Given the description of an element on the screen output the (x, y) to click on. 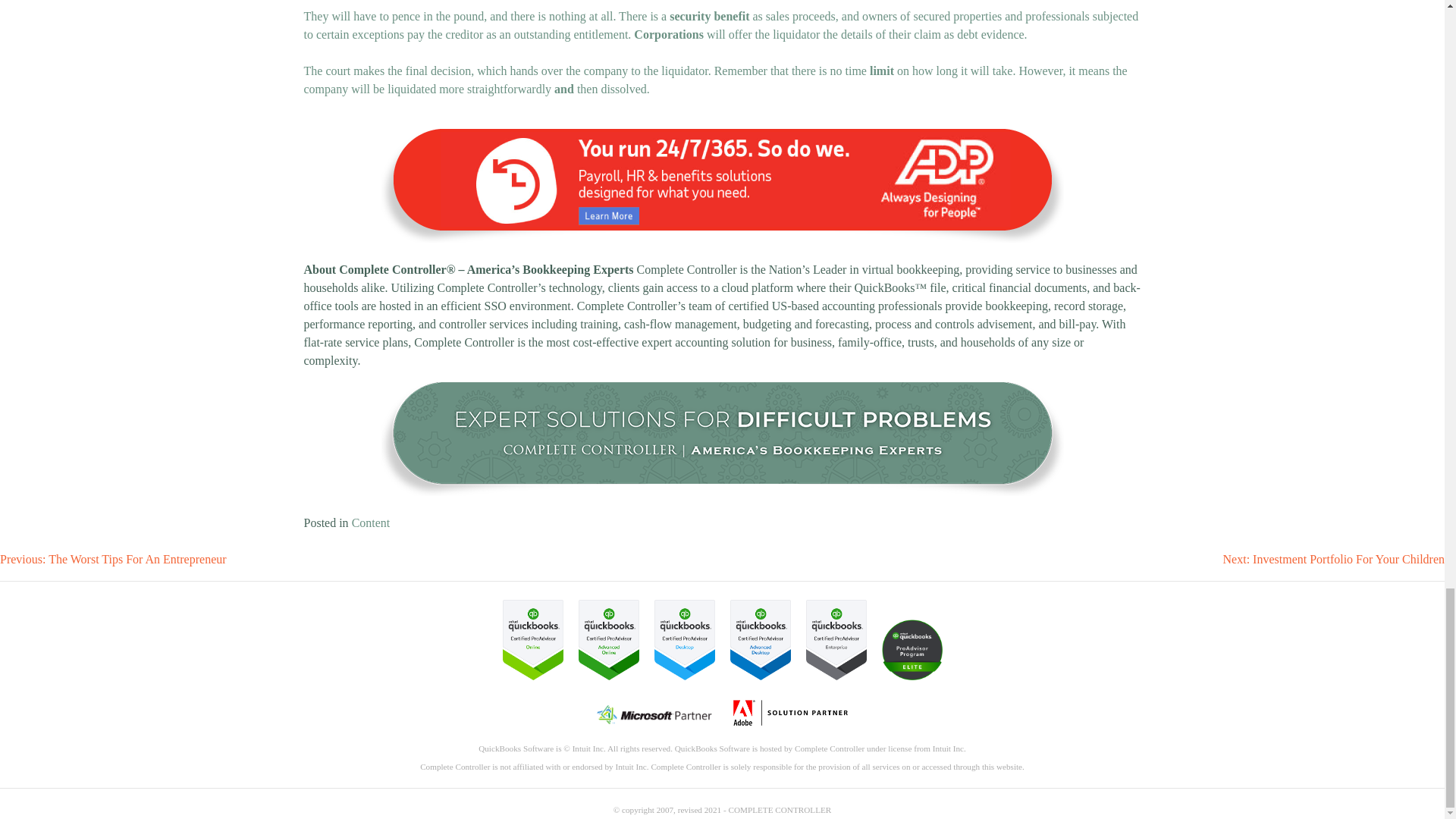
Content (371, 522)
Previous: The Worst Tips For An Entrepreneur (113, 558)
